Given the description of an element on the screen output the (x, y) to click on. 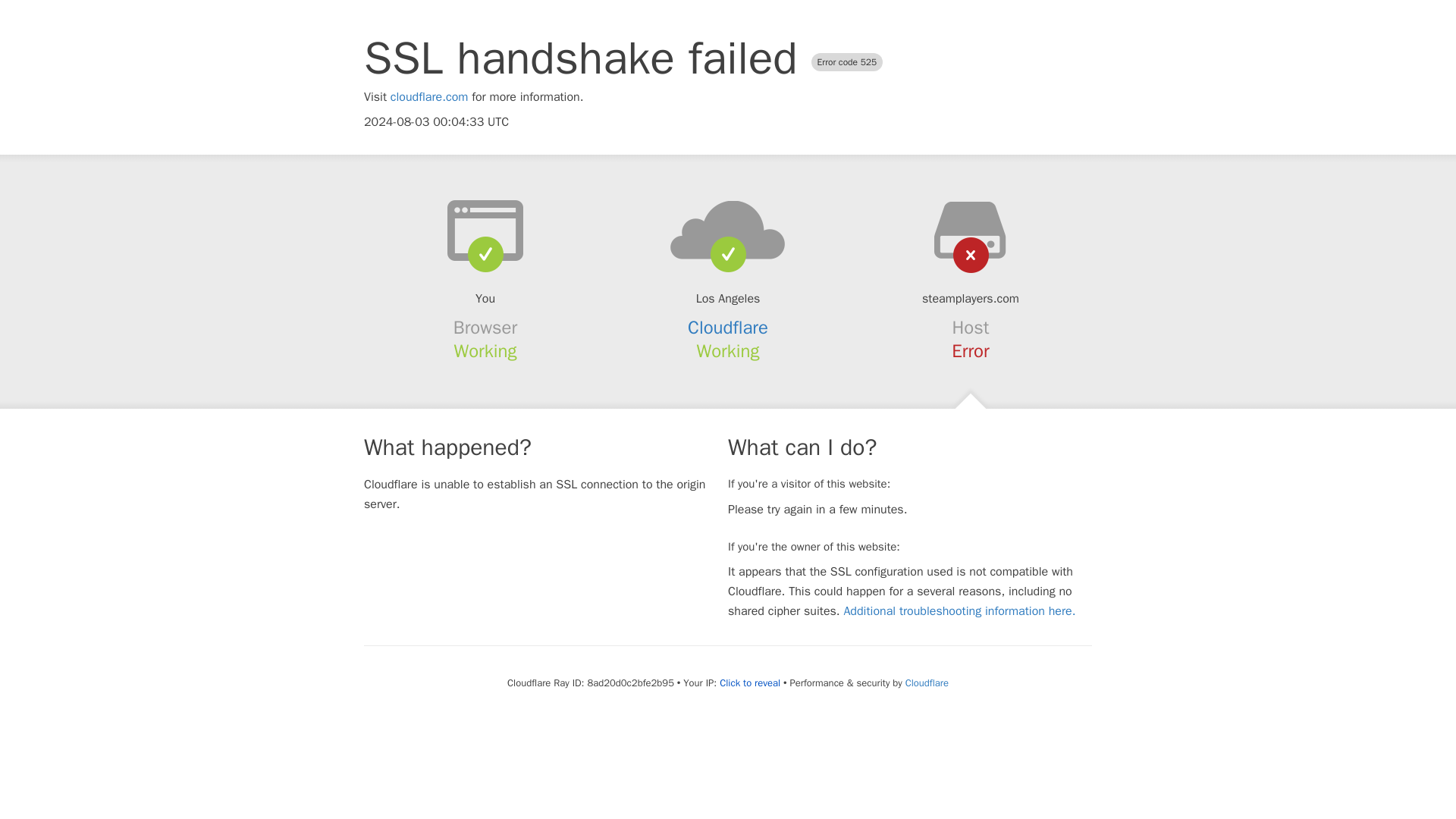
Cloudflare (727, 327)
cloudflare.com (429, 96)
Cloudflare (927, 682)
Additional troubleshooting information here. (959, 611)
Click to reveal (749, 683)
